Given the description of an element on the screen output the (x, y) to click on. 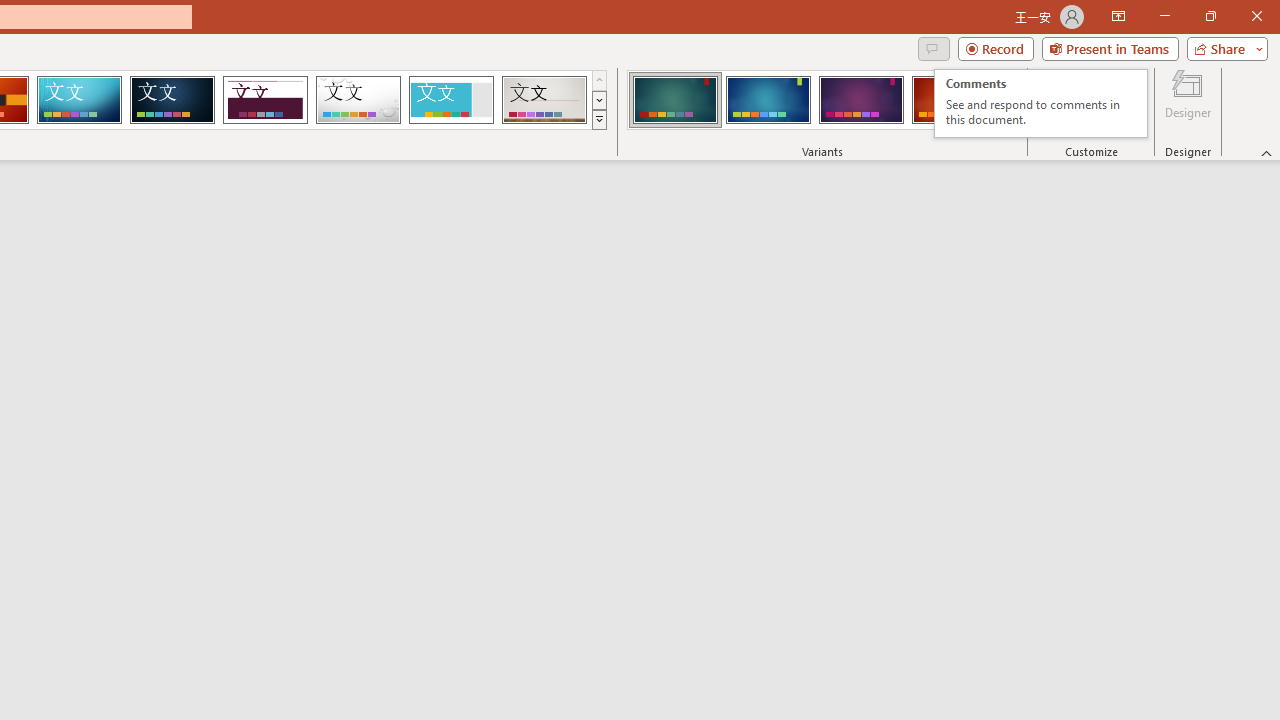
Damask Loading Preview... (171, 100)
Droplet Loading Preview... (358, 100)
Variants (1009, 120)
Dividend Loading Preview... (265, 100)
Ion Variant 4 (1041, 103)
Frame Loading Preview... (953, 100)
Gallery Loading Preview... (450, 100)
Ion Variant 3 (544, 100)
